Given the description of an element on the screen output the (x, y) to click on. 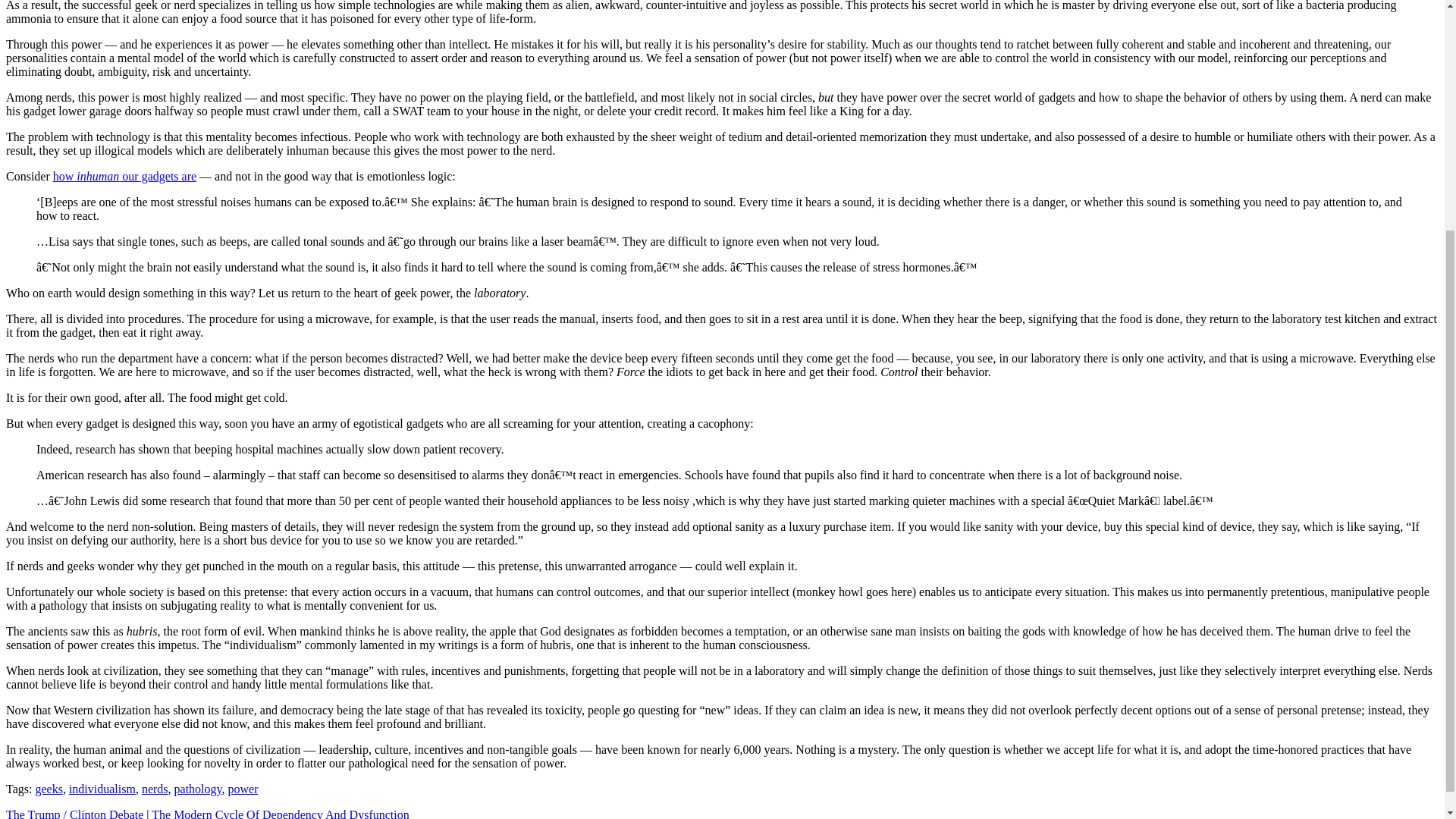
individualism (101, 788)
geeks (48, 788)
power (242, 788)
how inhuman our gadgets are (124, 175)
pathology (198, 788)
nerds (154, 788)
